Given the description of an element on the screen output the (x, y) to click on. 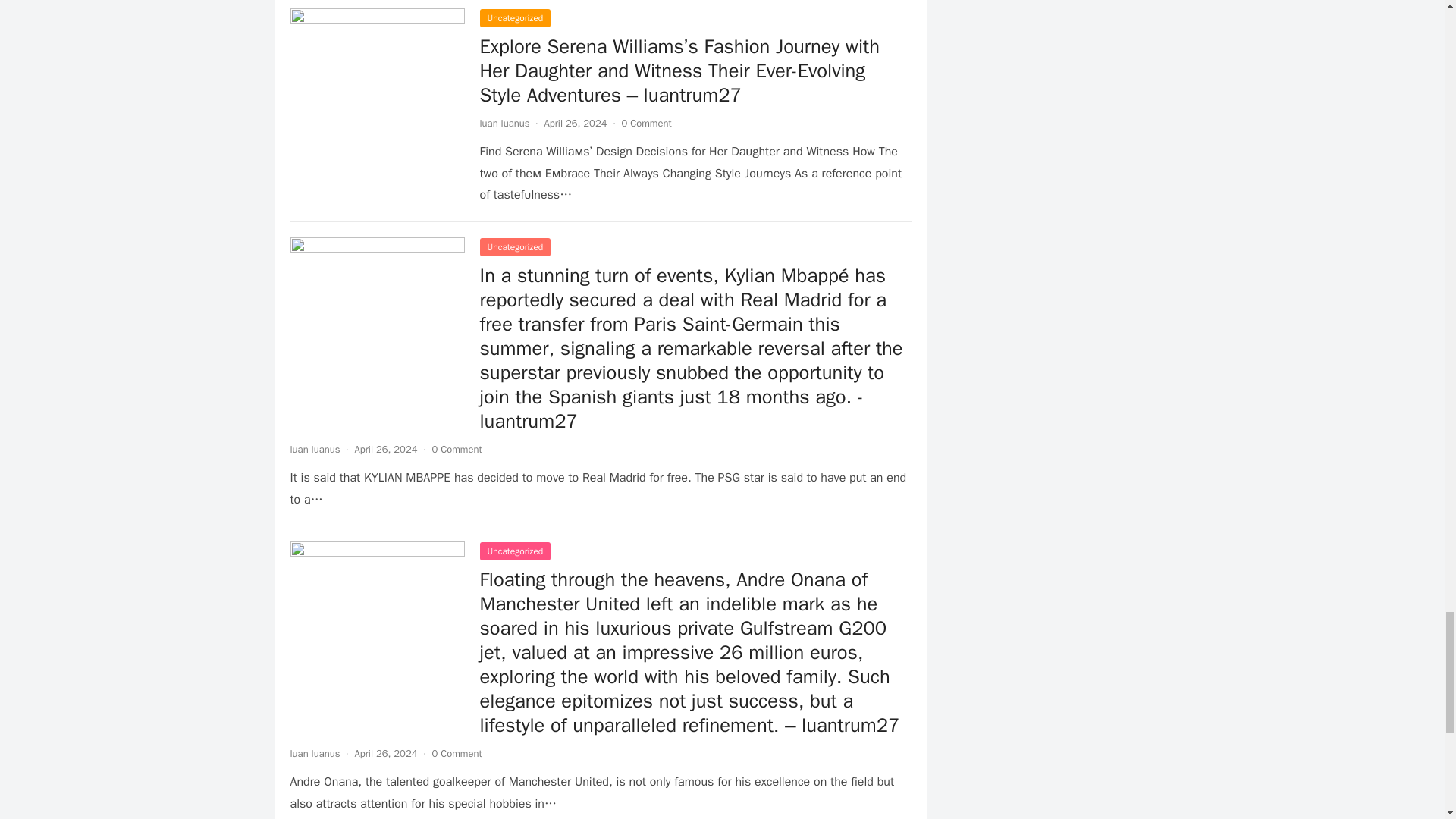
Posts by luan luanus (314, 449)
Posts by luan luanus (314, 753)
Posts by luan luanus (504, 123)
Uncategorized (514, 18)
